Given the description of an element on the screen output the (x, y) to click on. 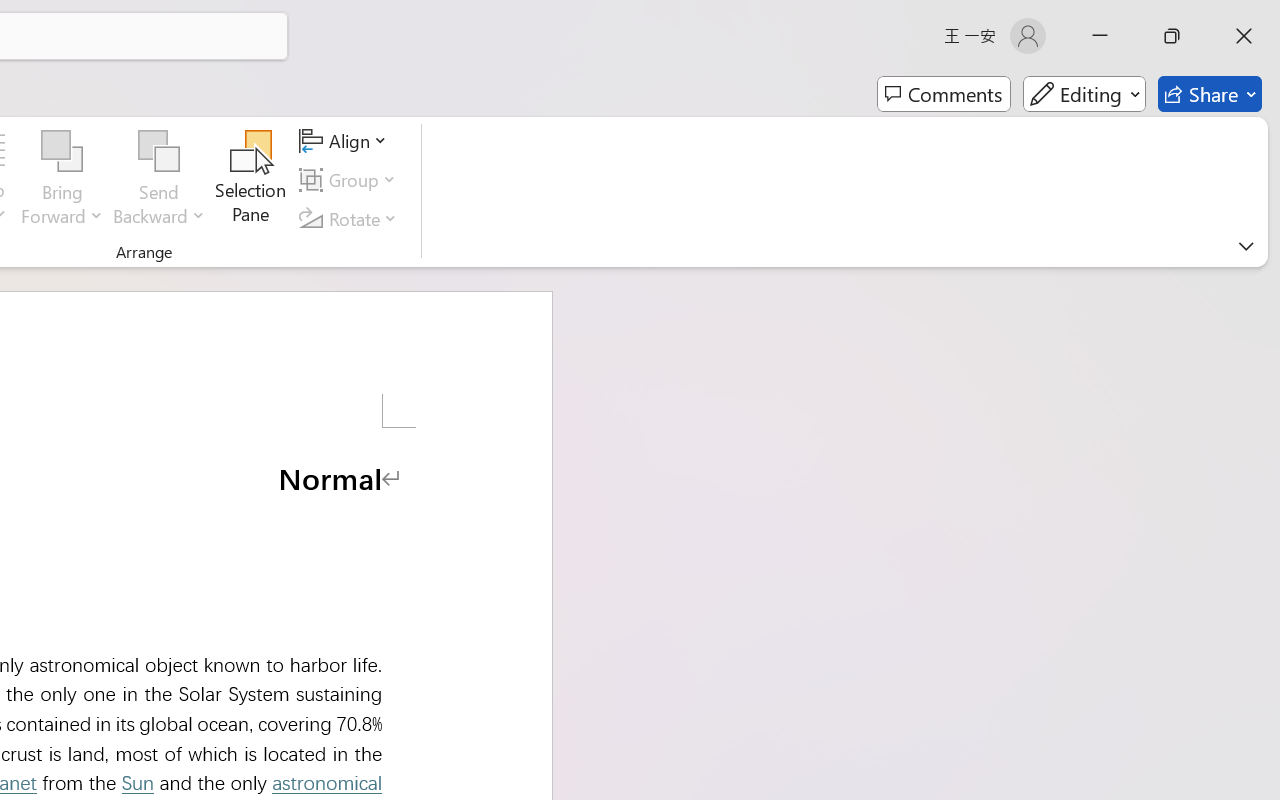
Align (346, 141)
Sun (137, 782)
Bring Forward (62, 179)
Rotate (351, 218)
Bring Forward (62, 151)
Selection Pane... (251, 179)
